Given the description of an element on the screen output the (x, y) to click on. 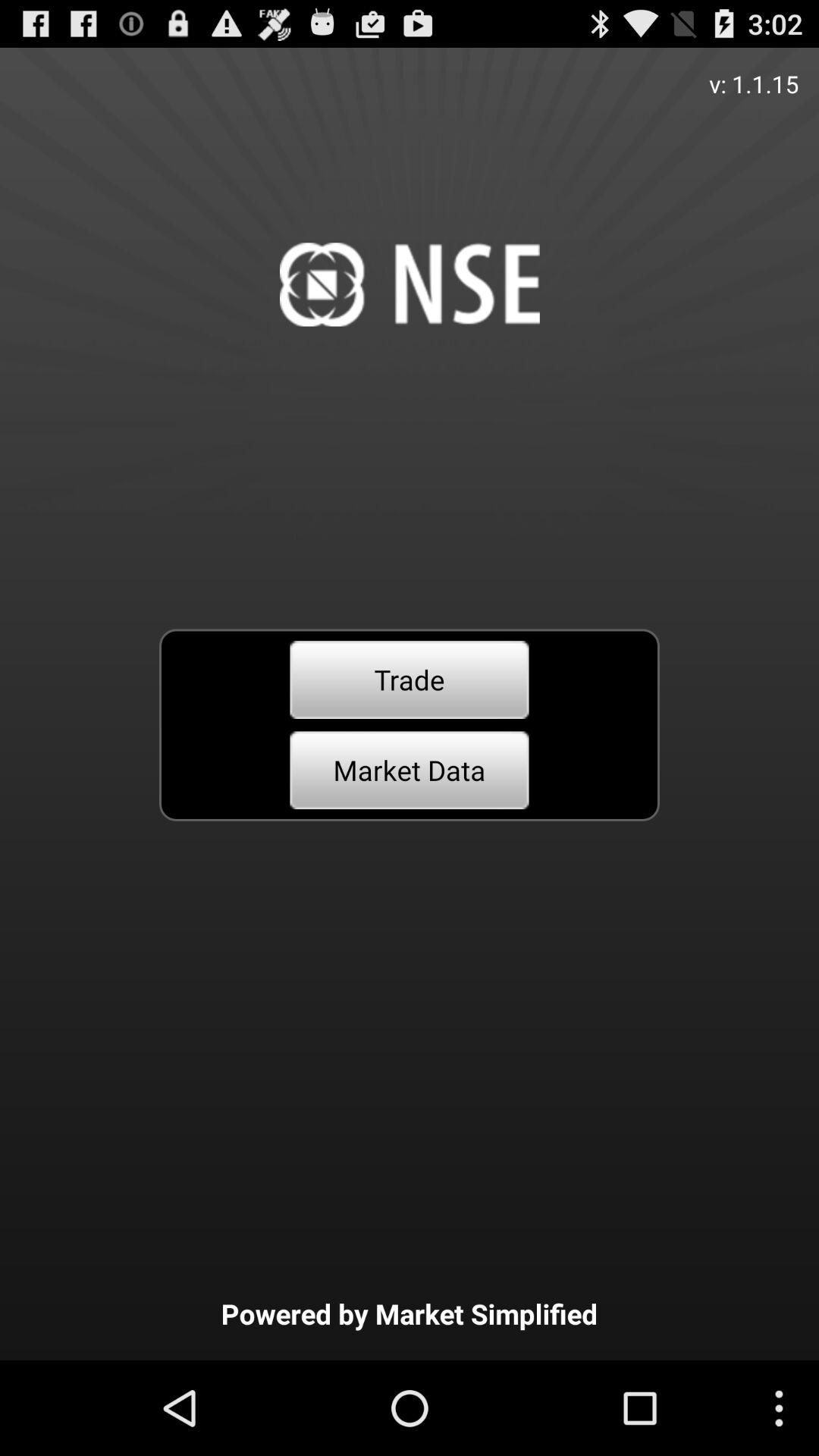
turn on the button below trade icon (409, 770)
